Given the description of an element on the screen output the (x, y) to click on. 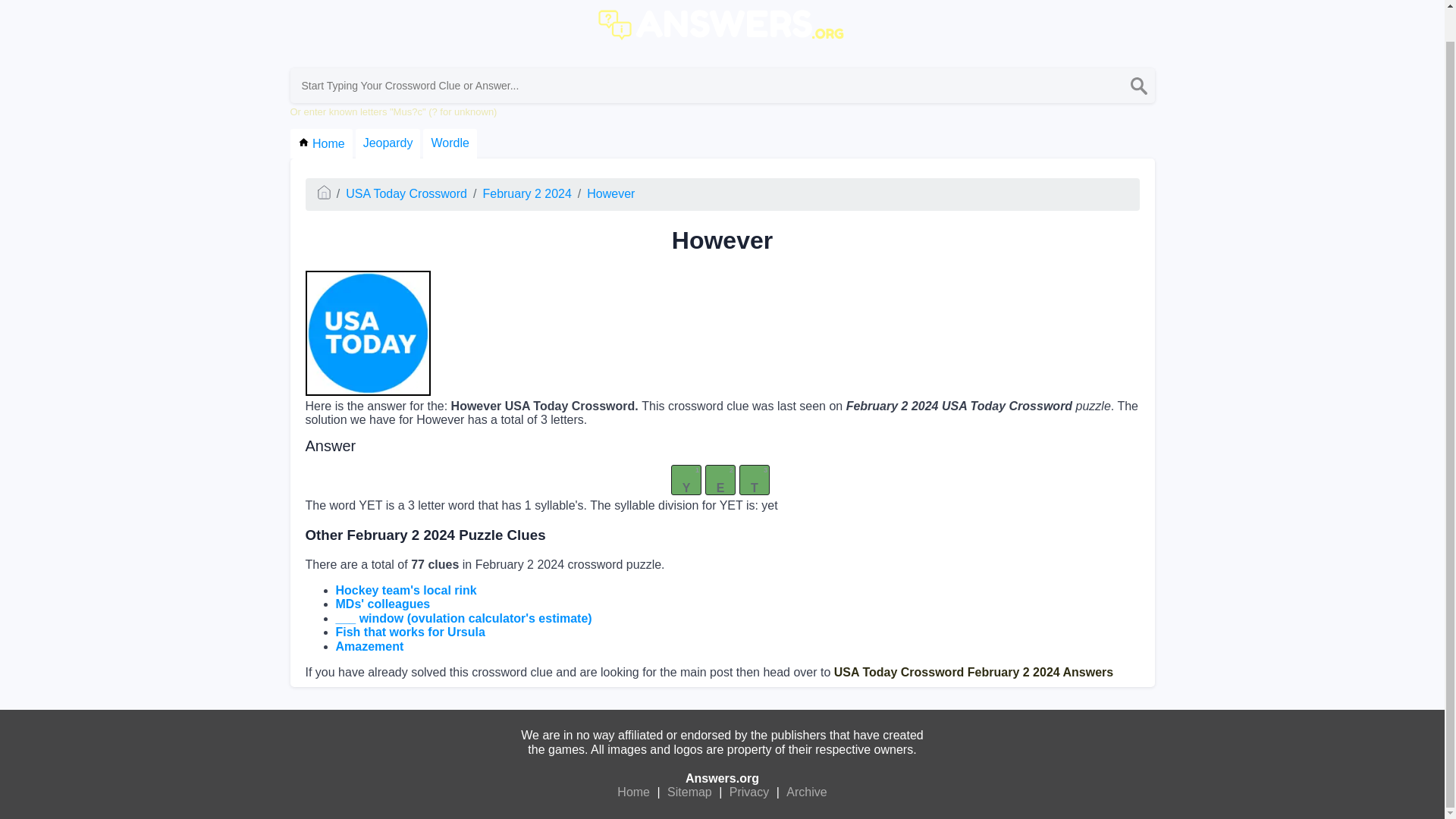
Archive (806, 792)
February 2 2024 (525, 193)
Wordle (449, 143)
Sitemap (689, 792)
MDs' colleagues (381, 603)
Jeopardy (387, 143)
Fish that works for Ursula (409, 631)
Privacy (749, 792)
Hockey team's local rink (405, 590)
However (610, 193)
